Given the description of an element on the screen output the (x, y) to click on. 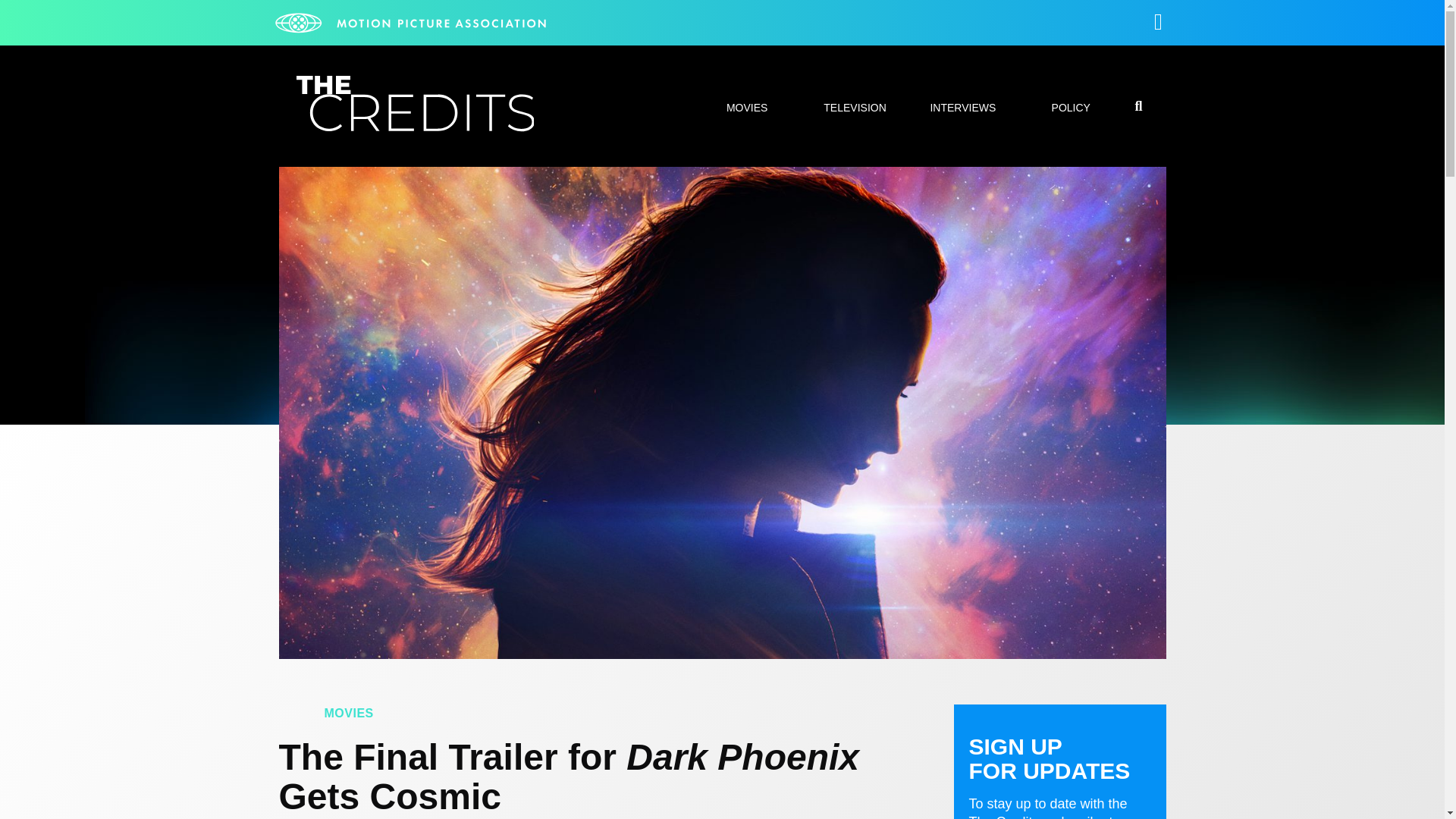
Search (1077, 408)
